Given the description of an element on the screen output the (x, y) to click on. 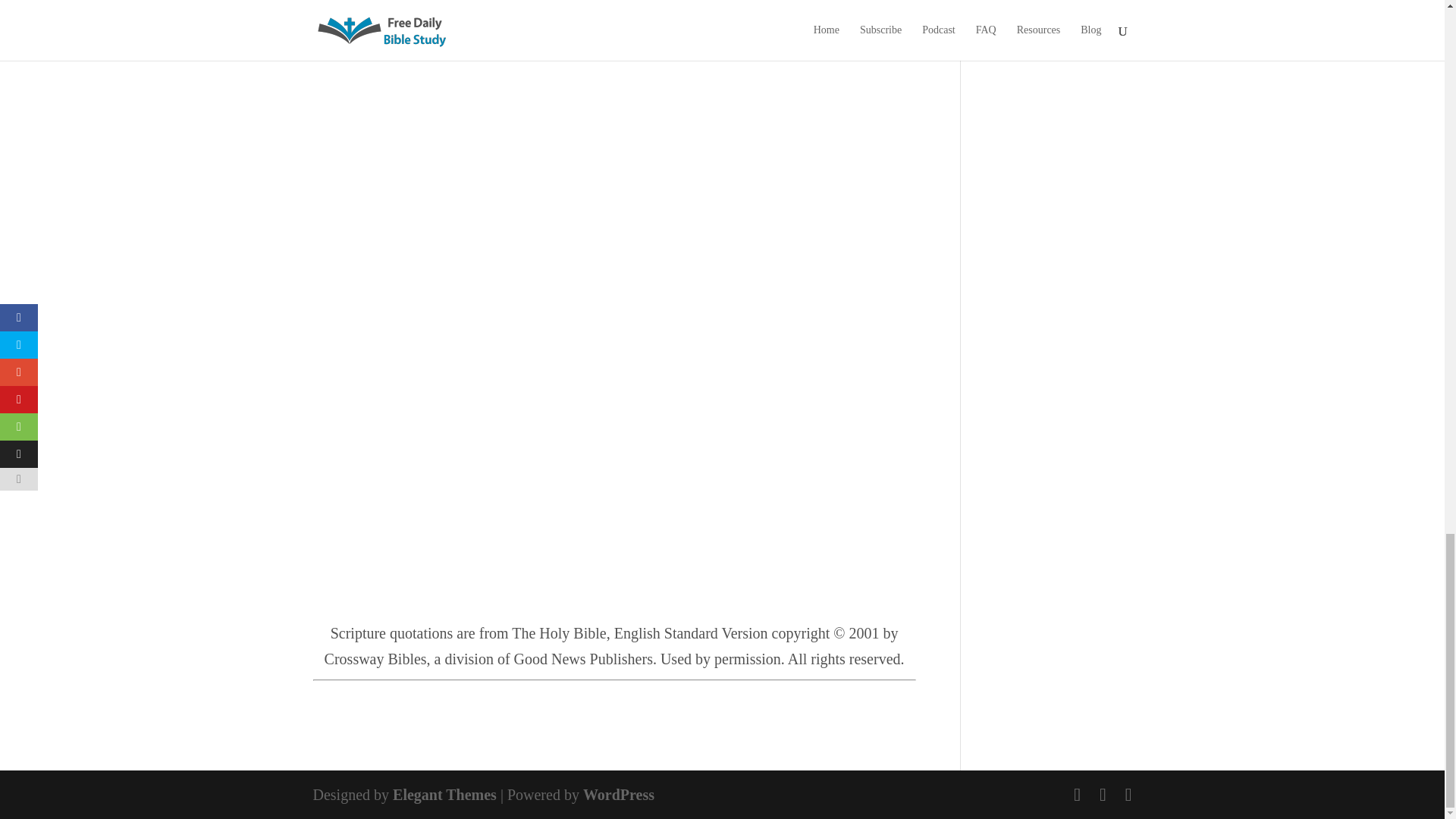
Premium WordPress Themes (444, 794)
Elegant Themes (444, 794)
